Given the description of an element on the screen output the (x, y) to click on. 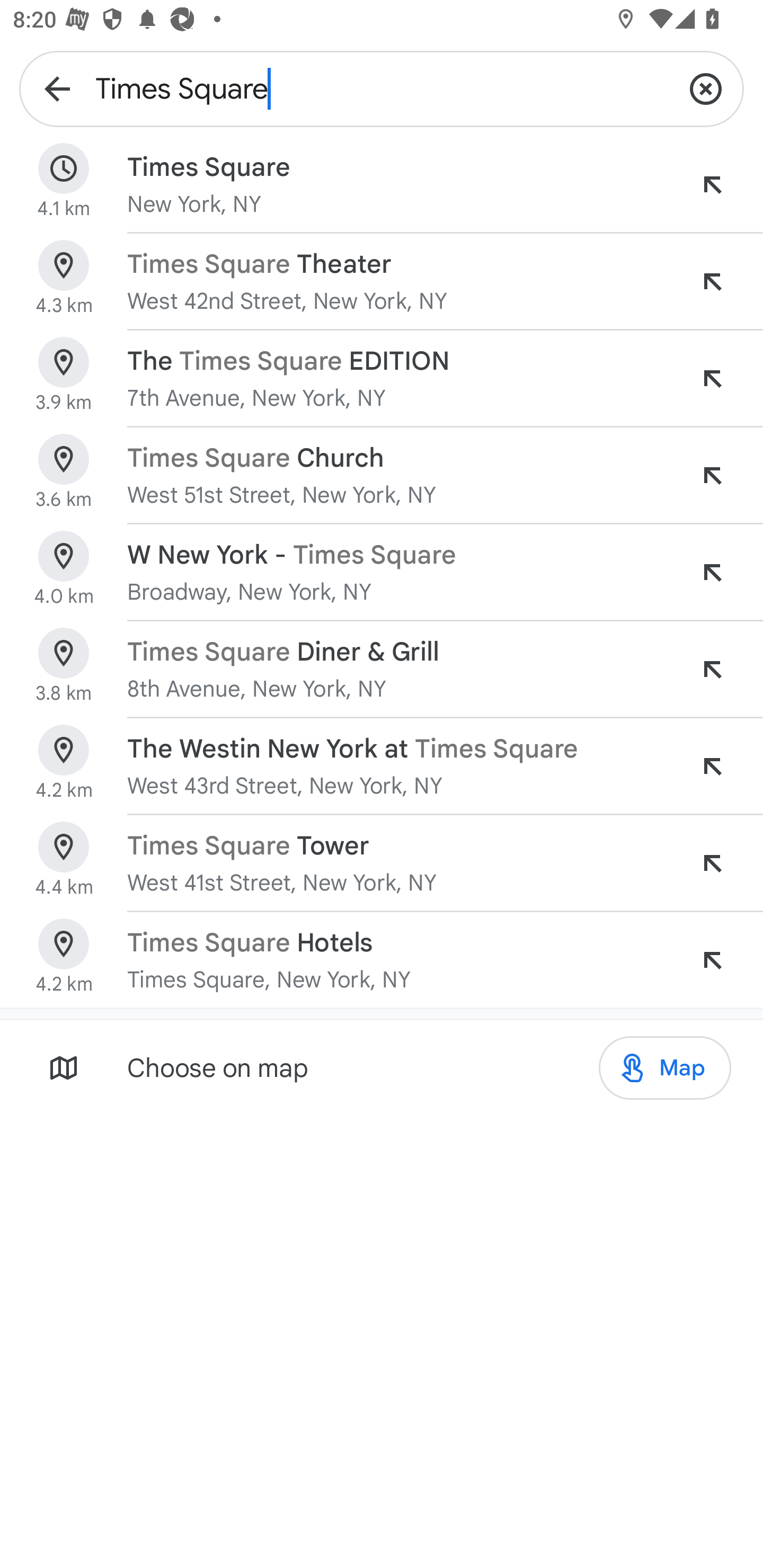
Navigate up (57, 88)
Times Square (381, 88)
Clear (705, 88)
Choose on map Map Map Map (381, 1067)
Map Map Map (664, 1067)
